Given the description of an element on the screen output the (x, y) to click on. 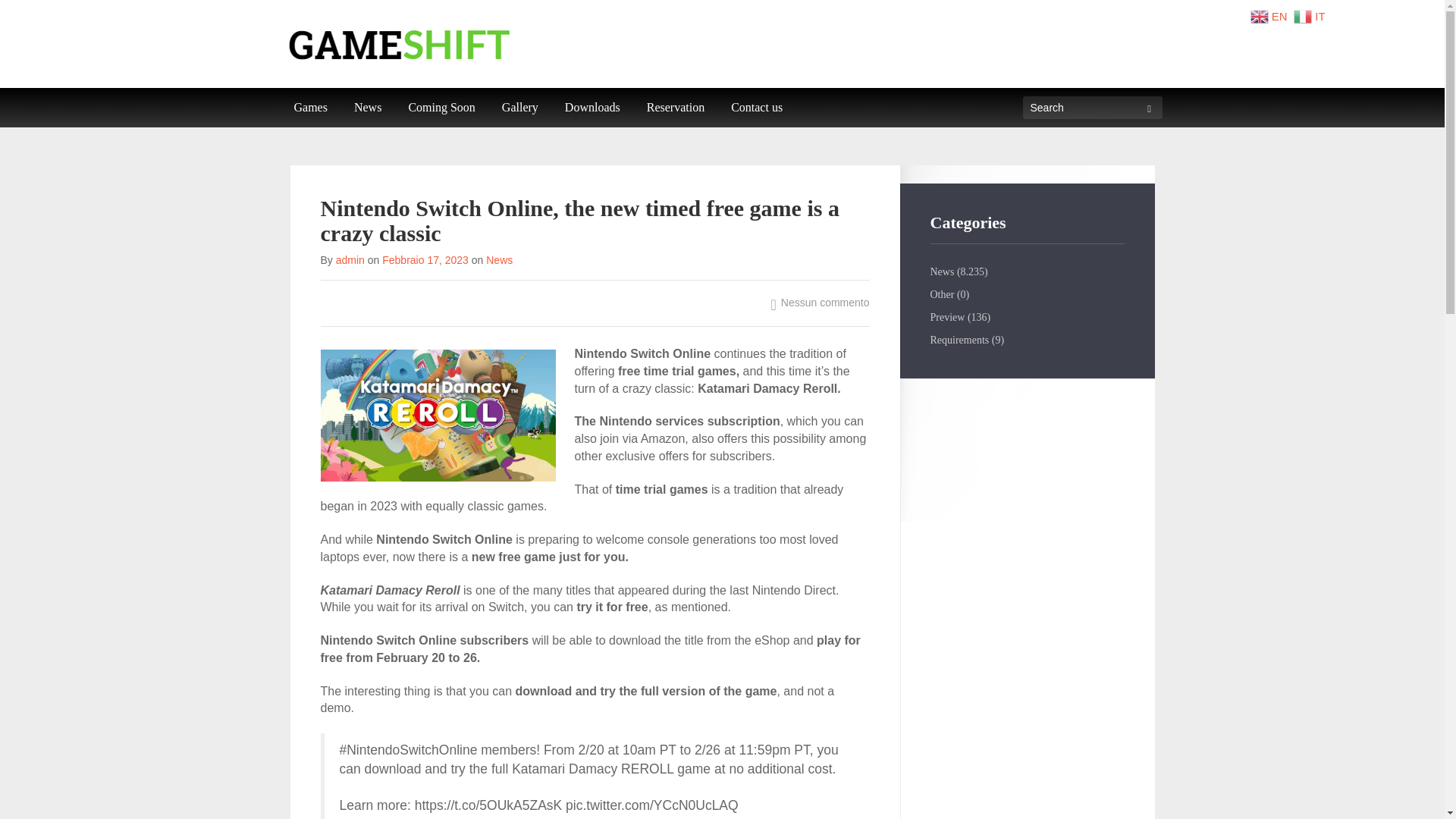
Games (309, 107)
Coming Soon (441, 107)
Articoli scritti da: admin (350, 259)
Videogame News (367, 107)
News (499, 259)
News (941, 271)
Nessun commento (820, 301)
English (1270, 15)
Italian (1310, 15)
EN (1270, 15)
Downloads (592, 107)
Preview (946, 317)
Gallery (520, 107)
News (367, 107)
Downloads (592, 107)
